Given the description of an element on the screen output the (x, y) to click on. 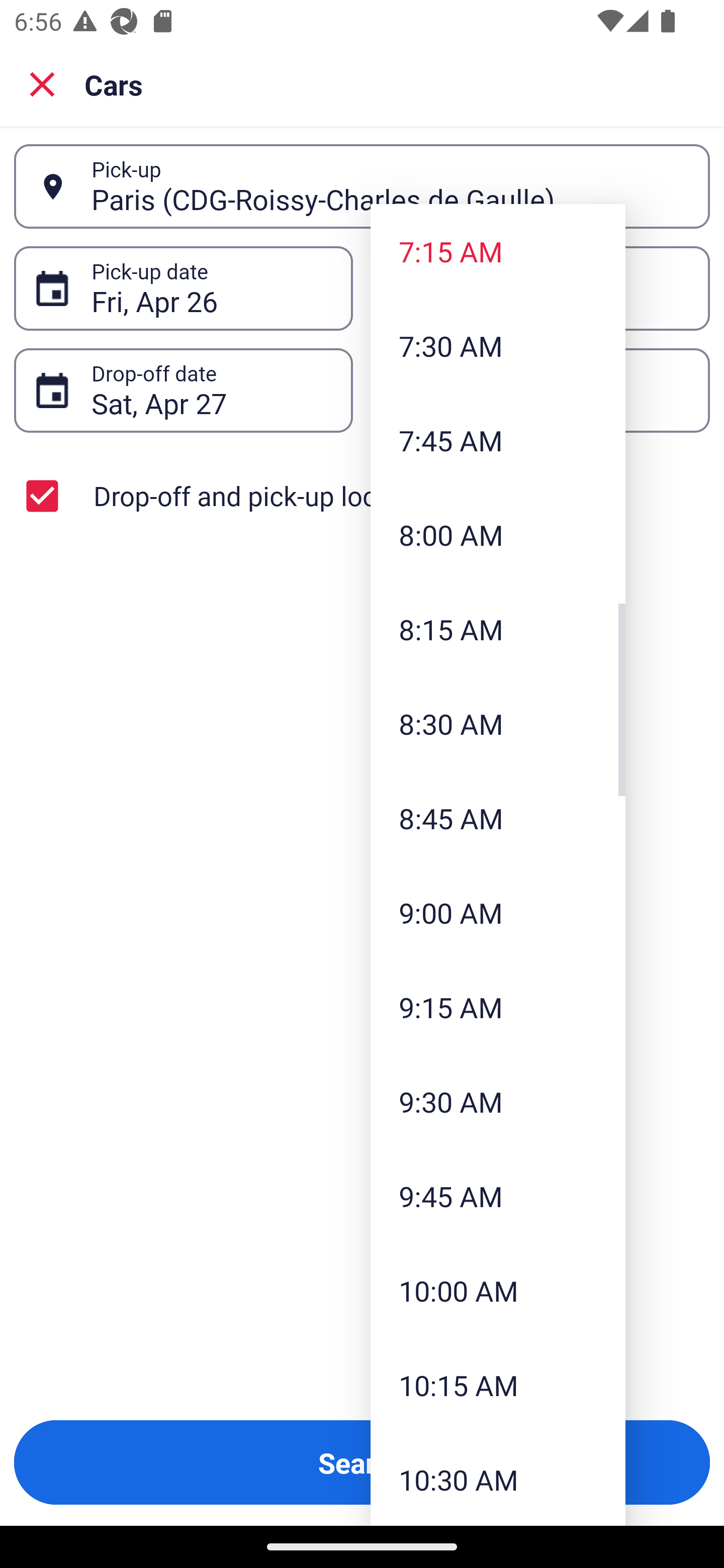
7:15 AM (497, 250)
7:30 AM (497, 345)
7:45 AM (497, 440)
8:00 AM (497, 534)
8:15 AM (497, 628)
8:30 AM (497, 723)
8:45 AM (497, 818)
9:00 AM (497, 912)
9:15 AM (497, 1006)
9:30 AM (497, 1101)
9:45 AM (497, 1196)
10:00 AM (497, 1290)
10:15 AM (497, 1384)
10:30 AM (497, 1478)
